Given the description of an element on the screen output the (x, y) to click on. 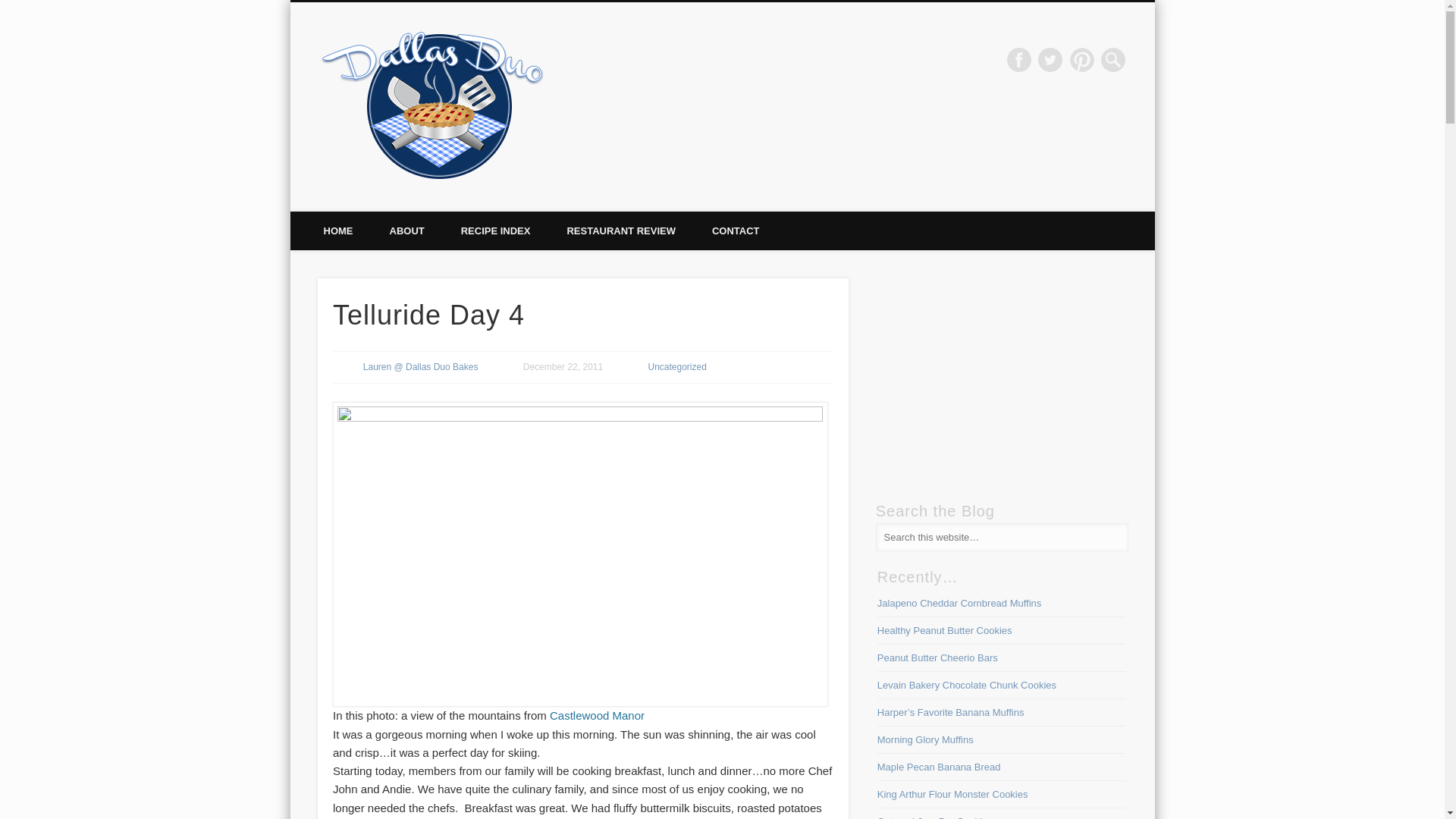
Twitter (1050, 59)
HOME (337, 230)
Pinterest (1082, 59)
RECIPE INDEX (495, 230)
CONTACT (735, 230)
Peanut Butter Cheerio Bars (937, 657)
Castlewood Manor (597, 715)
Levain Bakery Chocolate Chunk Cookies (967, 685)
Search (11, 7)
Dallas Duo Bakes (649, 59)
